Given the description of an element on the screen output the (x, y) to click on. 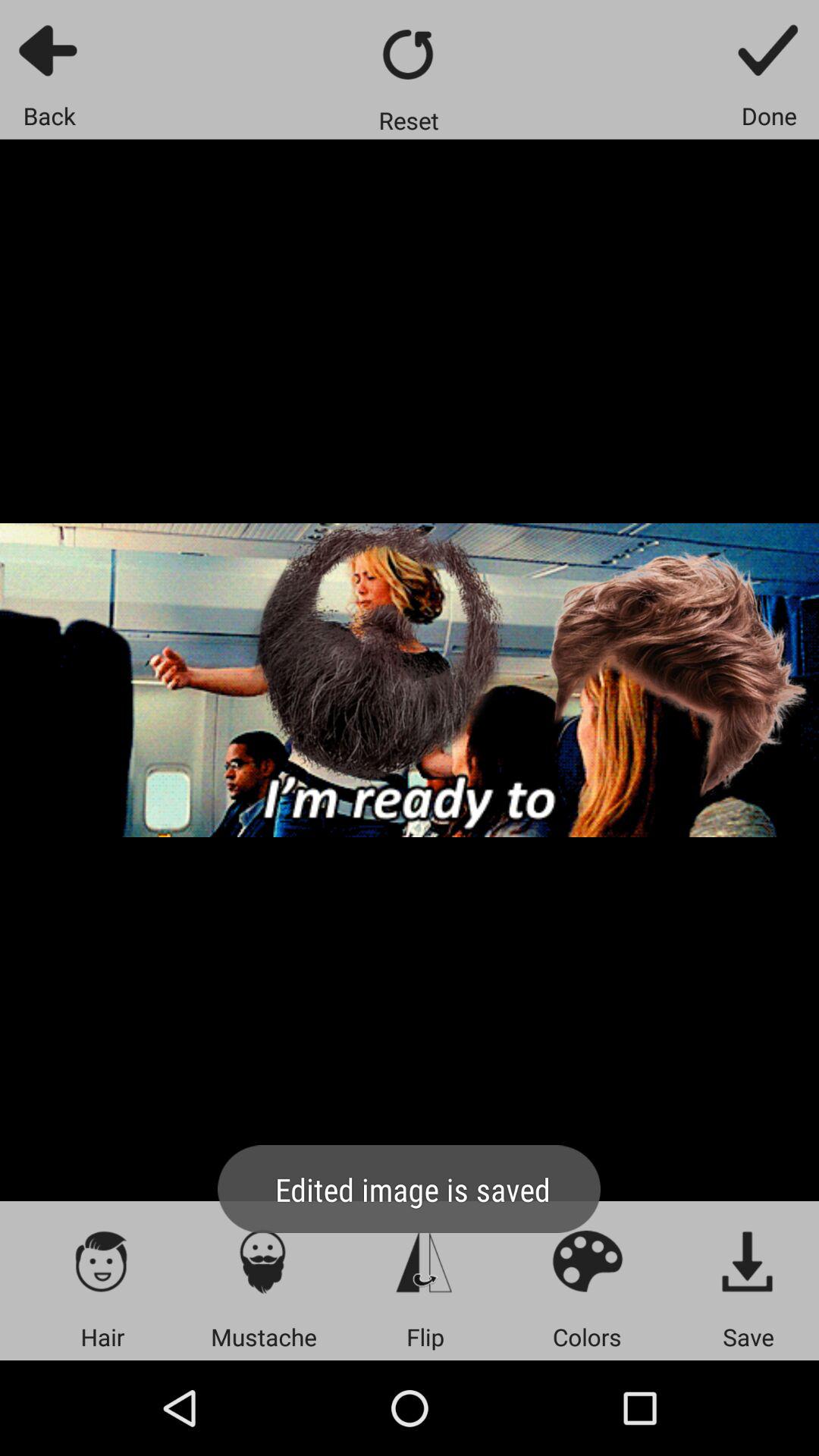
open moustache customisation menu (263, 1260)
